Given the description of an element on the screen output the (x, y) to click on. 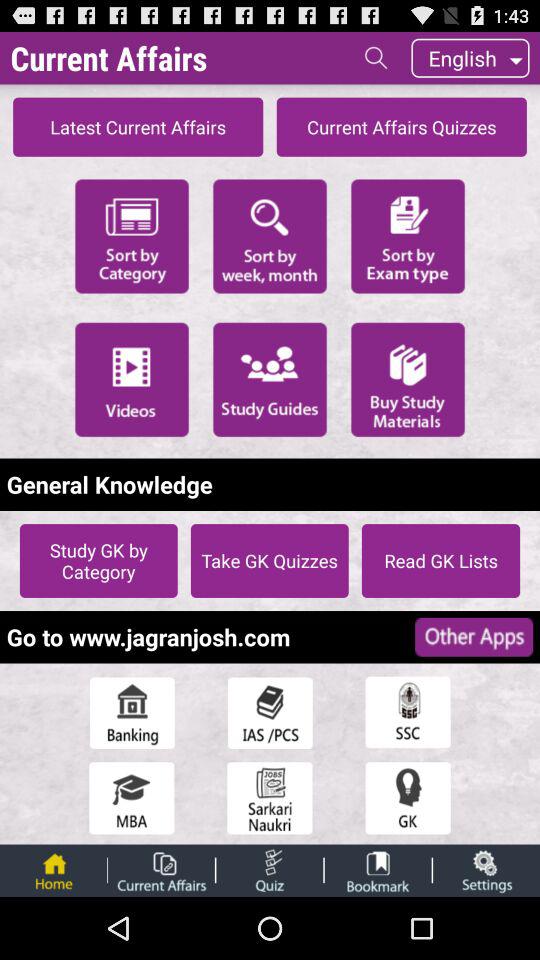
turn off the app below the general knowledge app (269, 560)
